Given the description of an element on the screen output the (x, y) to click on. 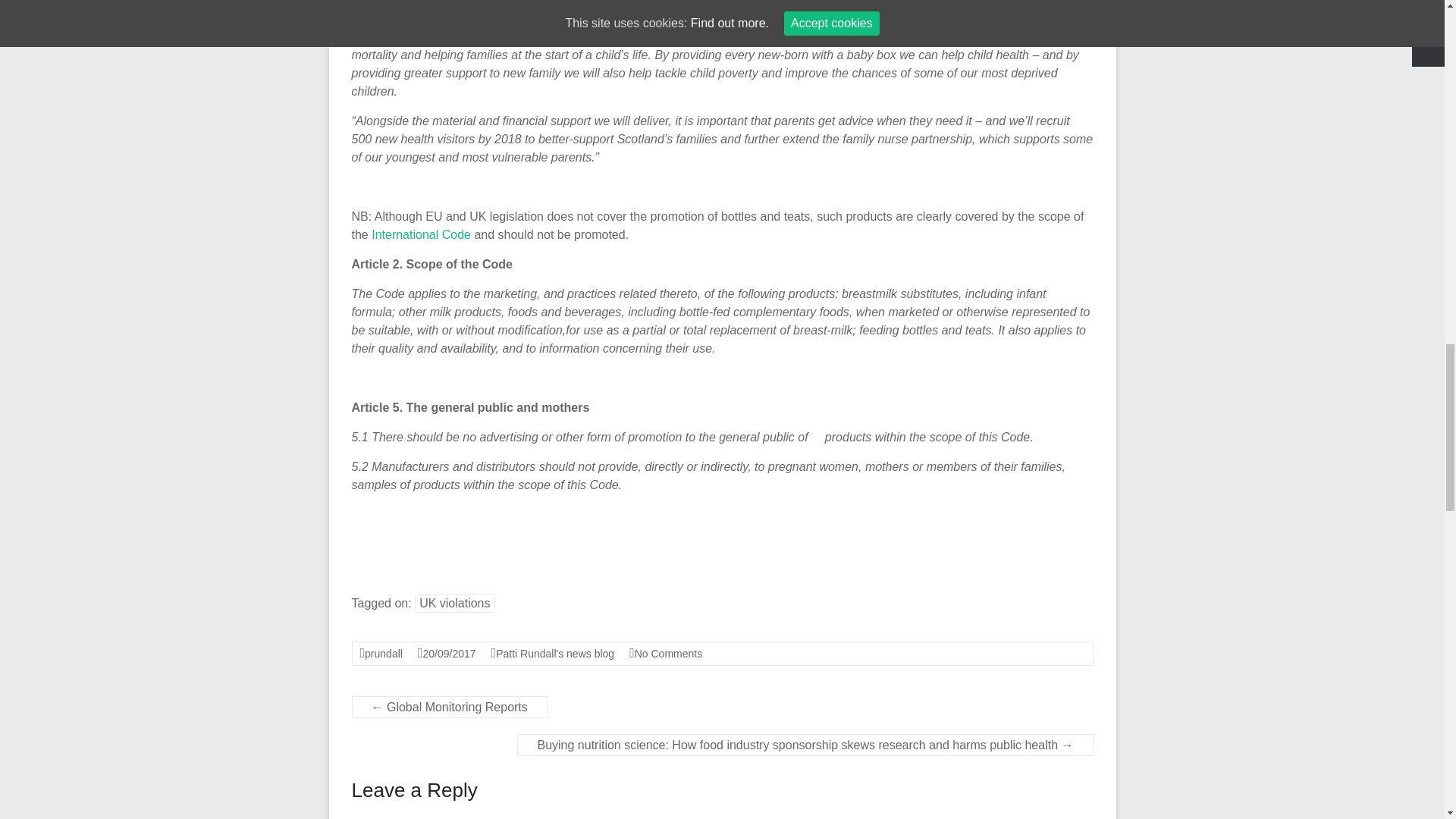
9:59 pm (449, 653)
